Given the description of an element on the screen output the (x, y) to click on. 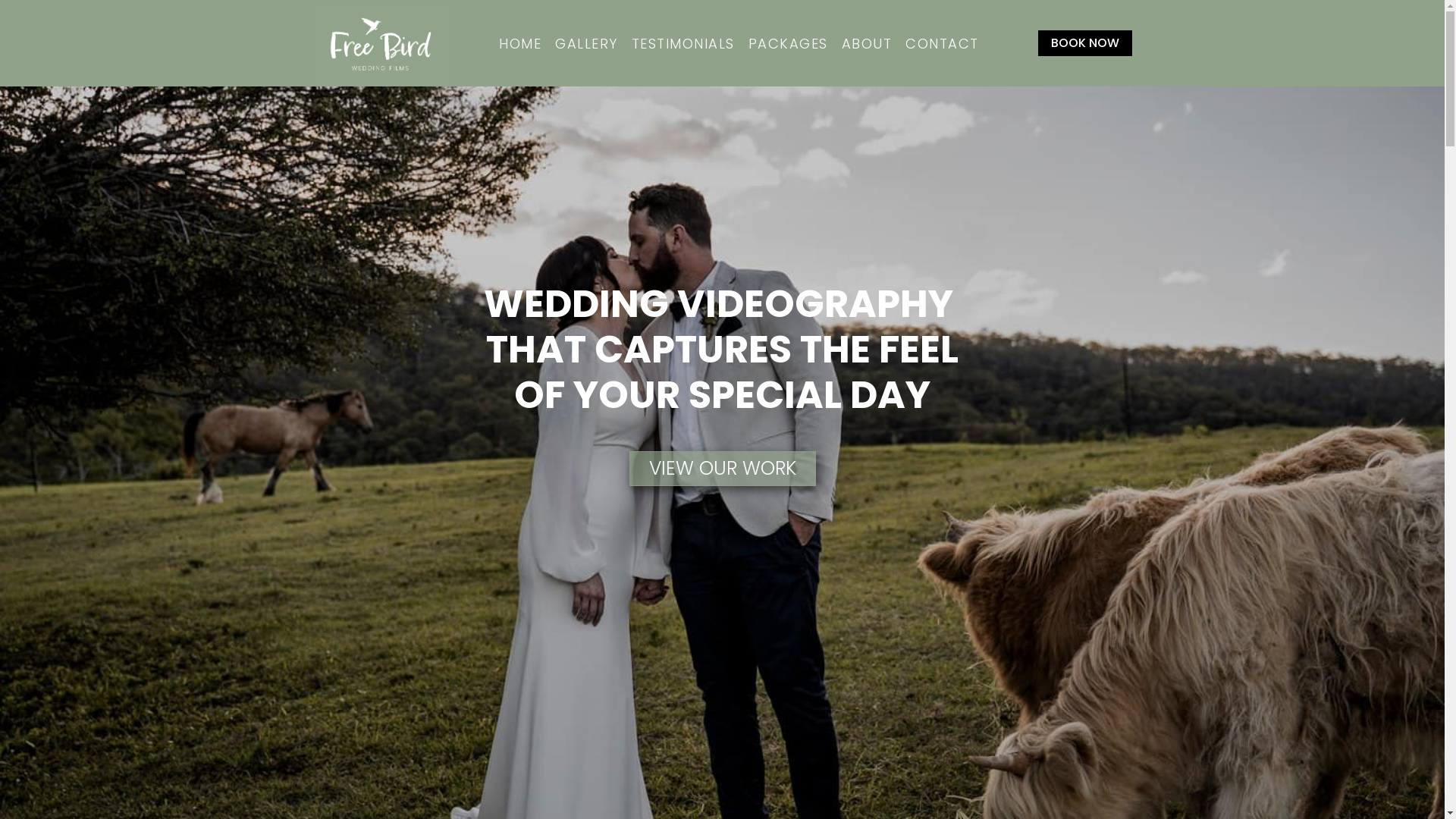
BOOK NOW Element type: text (1084, 43)
ABOUT Element type: text (871, 44)
CONTACT Element type: text (946, 44)
HOME Element type: text (524, 44)
PACKAGES Element type: text (792, 44)
TESTIMONIALS Element type: text (687, 44)
GALLERY Element type: text (591, 44)
VIEW OUR WORK Element type: text (722, 468)
